Given the description of an element on the screen output the (x, y) to click on. 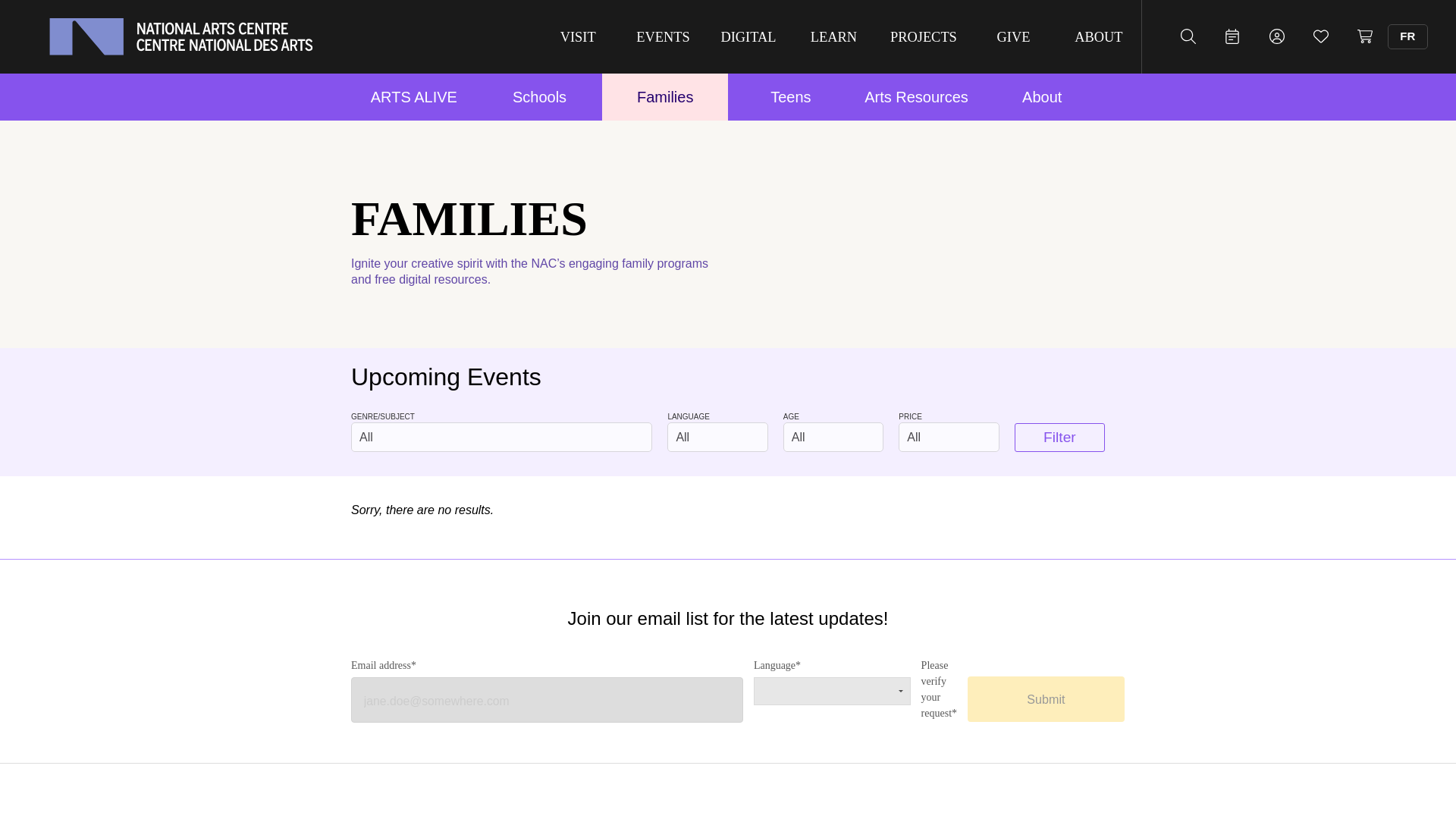
VISIT (577, 36)
My wish list (1320, 36)
Events calendar (1231, 36)
Search (1187, 36)
My Account (1276, 36)
Home (181, 36)
EVENTS (662, 36)
My cart (1364, 36)
